Given the description of an element on the screen output the (x, y) to click on. 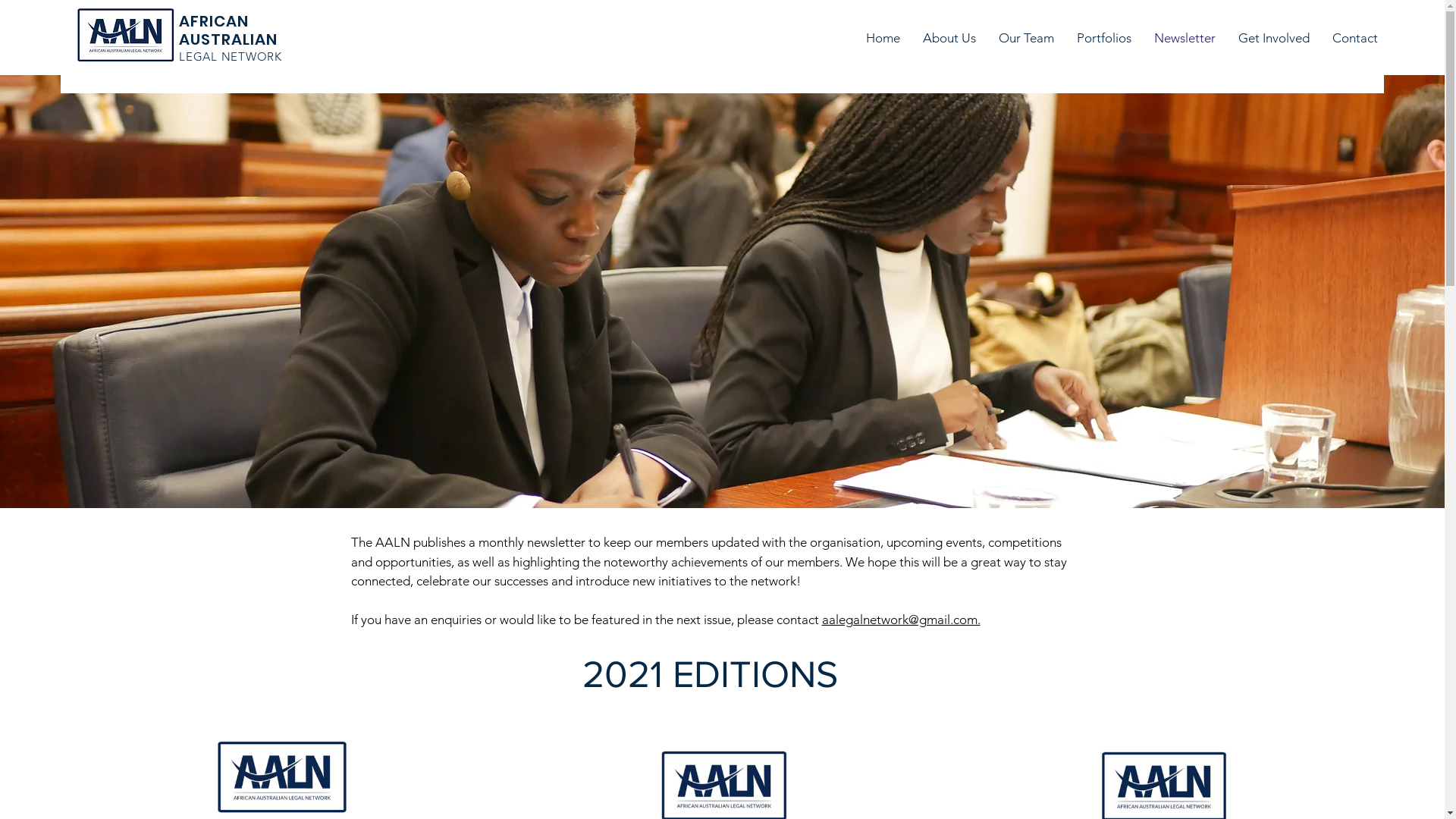
AFRICAN AUSTRALIAN Element type: text (227, 30)
Newsletter Element type: text (1184, 37)
Contact Element type: text (1355, 37)
aalegalnetwork@gmail.com. Element type: text (901, 619)
About Us Element type: text (949, 37)
LEGAL NETWORK Element type: text (230, 56)
Home Element type: text (882, 37)
Get Involved Element type: text (1273, 37)
Our Team Element type: text (1026, 37)
